Given the description of an element on the screen output the (x, y) to click on. 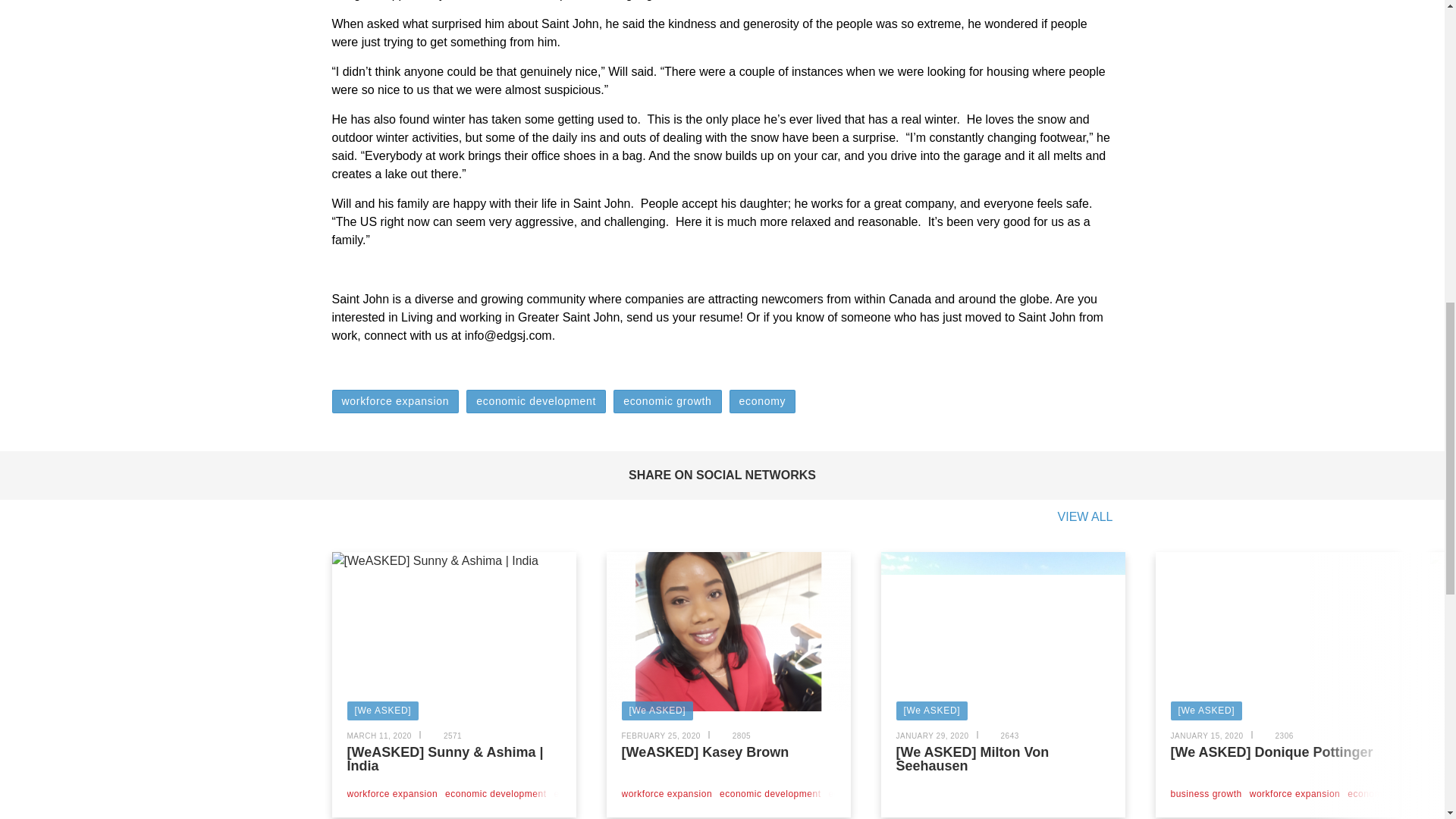
workforce expansion (392, 793)
economy (762, 401)
economic growth (666, 401)
resume (718, 317)
economic development (535, 401)
workforce expansion (395, 401)
VIEW ALL (1085, 516)
